Given the description of an element on the screen output the (x, y) to click on. 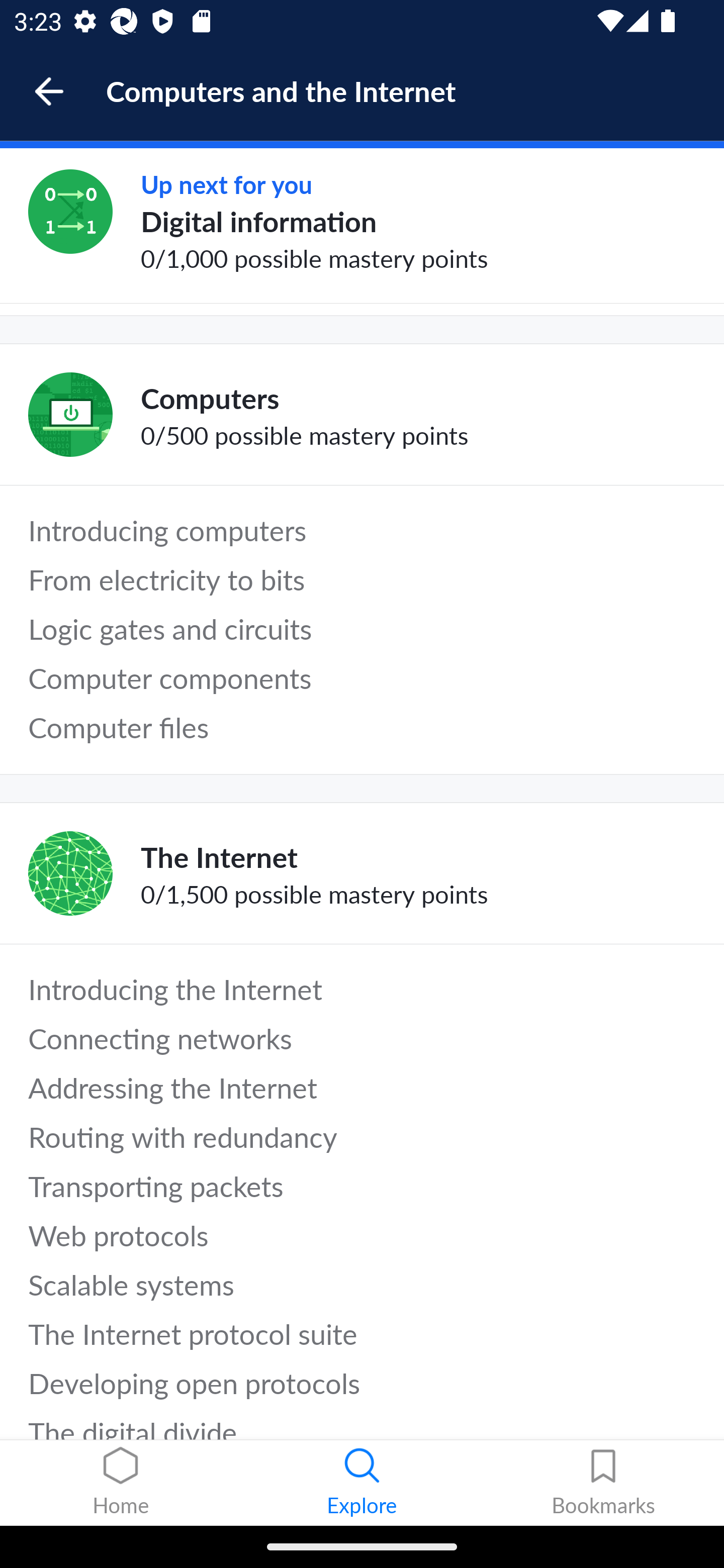
Back (58, 91)
Computers 0/500 possible mastery points (362, 414)
The Internet 0/1,500 possible mastery points (362, 872)
Home (120, 1482)
Explore (361, 1482)
Bookmarks (603, 1482)
